Given the description of an element on the screen output the (x, y) to click on. 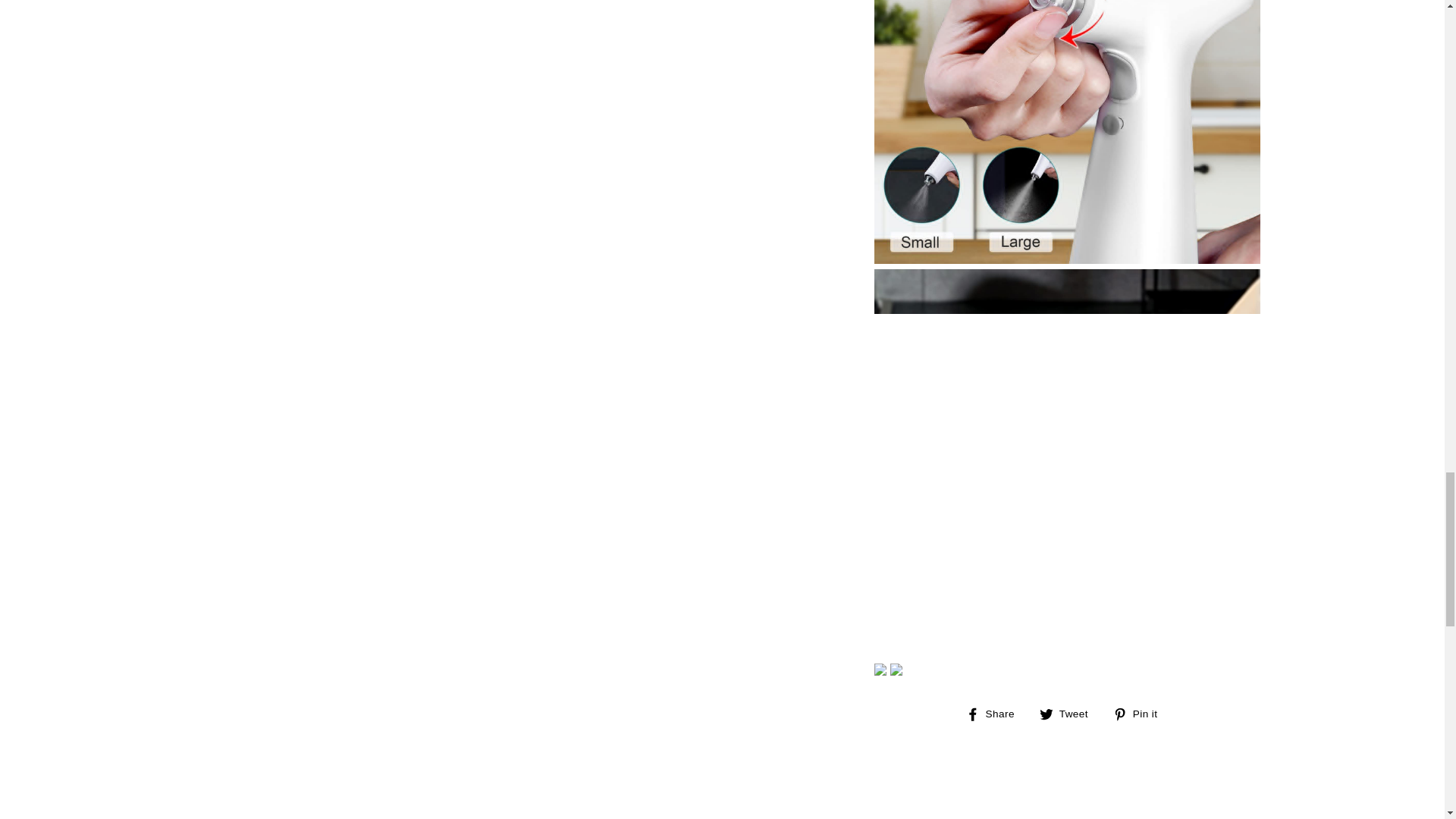
Share on Facebook (996, 713)
Pin on Pinterest (1141, 713)
Tweet on Twitter (1141, 713)
